Given the description of an element on the screen output the (x, y) to click on. 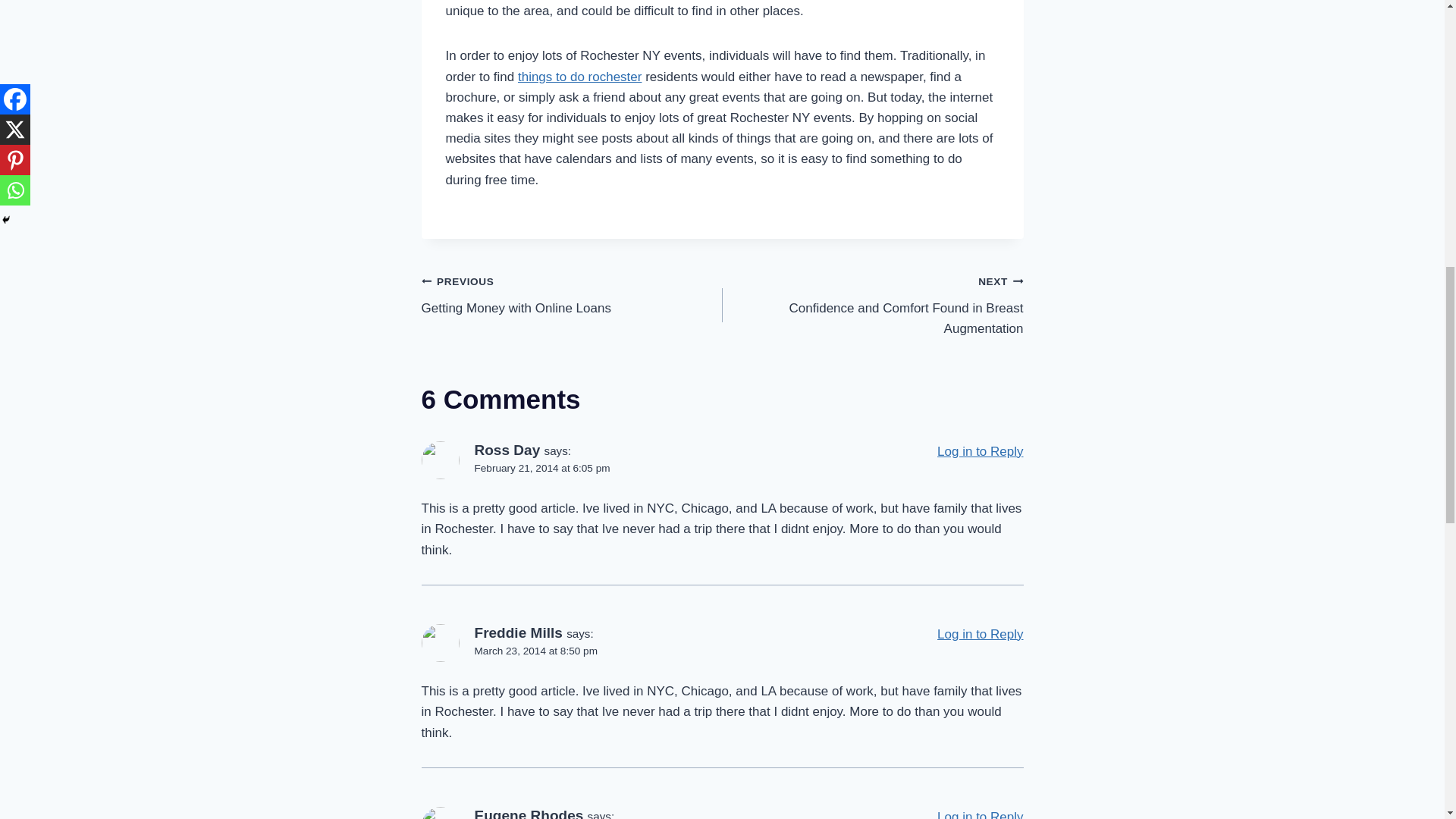
March 23, 2014 at 8:50 pm (535, 650)
Log in to Reply (980, 634)
Log in to Reply (980, 814)
Log in to Reply (980, 451)
Eugene Rhodes (528, 813)
February 21, 2014 at 6:05 pm (542, 468)
Ross Day (507, 449)
things to do rochester (872, 305)
Things to do rochester (580, 76)
